Given the description of an element on the screen output the (x, y) to click on. 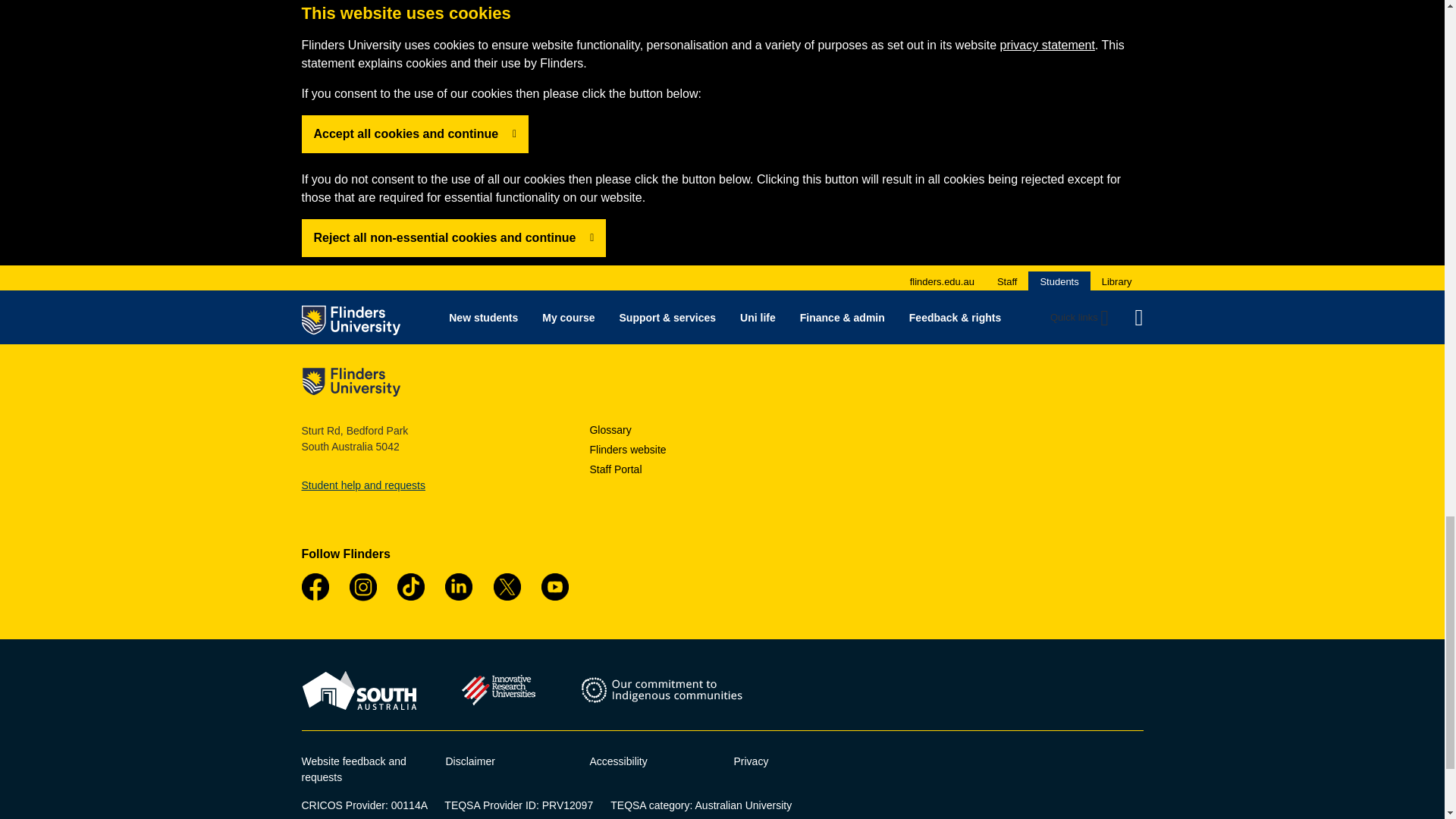
Accessibility (618, 761)
Privacy (750, 761)
Copyright and disclaimer (470, 761)
